Given the description of an element on the screen output the (x, y) to click on. 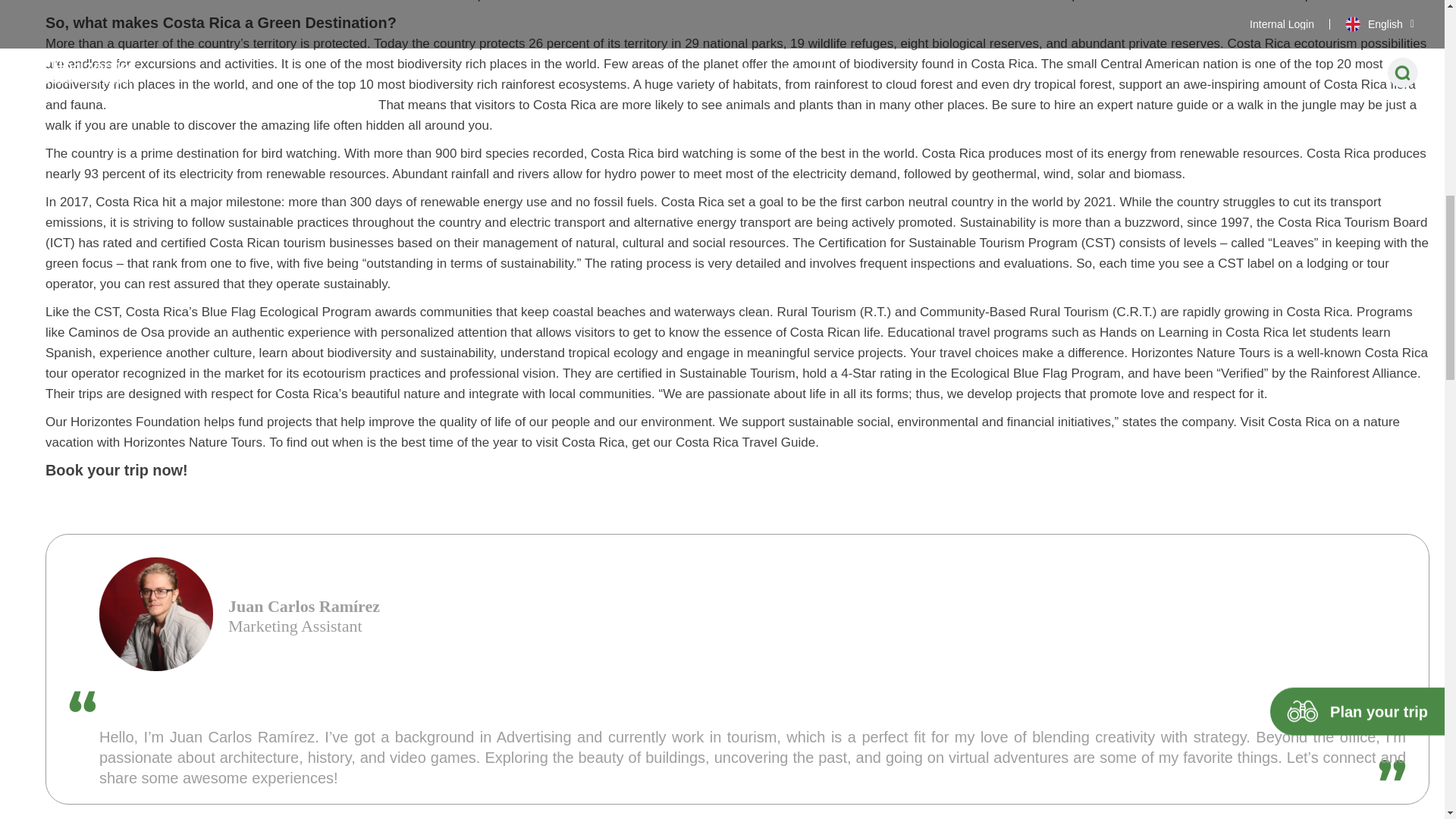
Book your trip now! (116, 469)
